Given the description of an element on the screen output the (x, y) to click on. 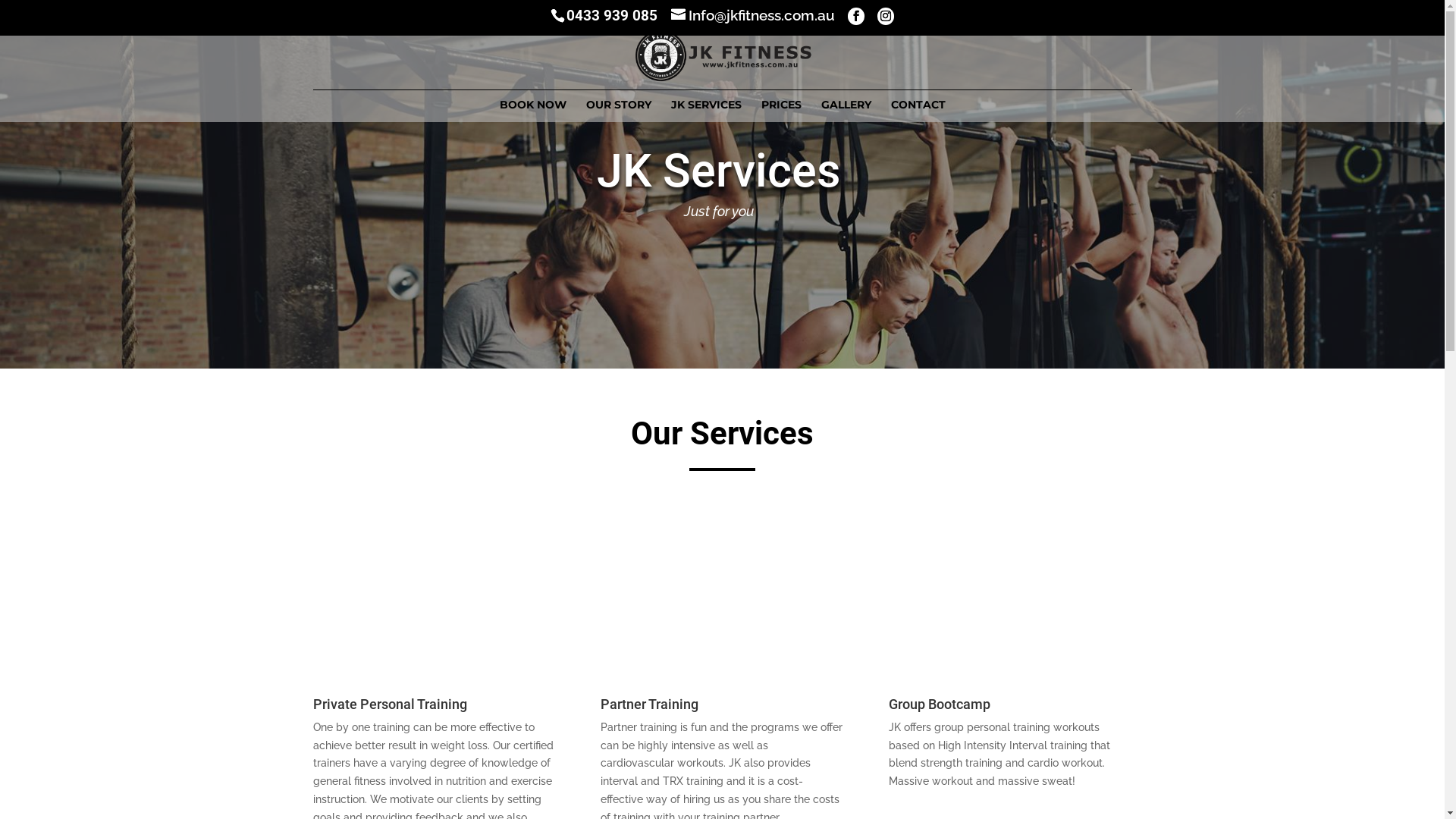
OUR STORY Element type: text (617, 110)
Info@jkfitness.com.au Element type: text (752, 14)
BOOK NOW Element type: text (531, 110)
CONTACT Element type: text (917, 110)
JK SERVICES Element type: text (705, 110)
GALLERY Element type: text (845, 110)
PRICES Element type: text (781, 110)
